Given the description of an element on the screen output the (x, y) to click on. 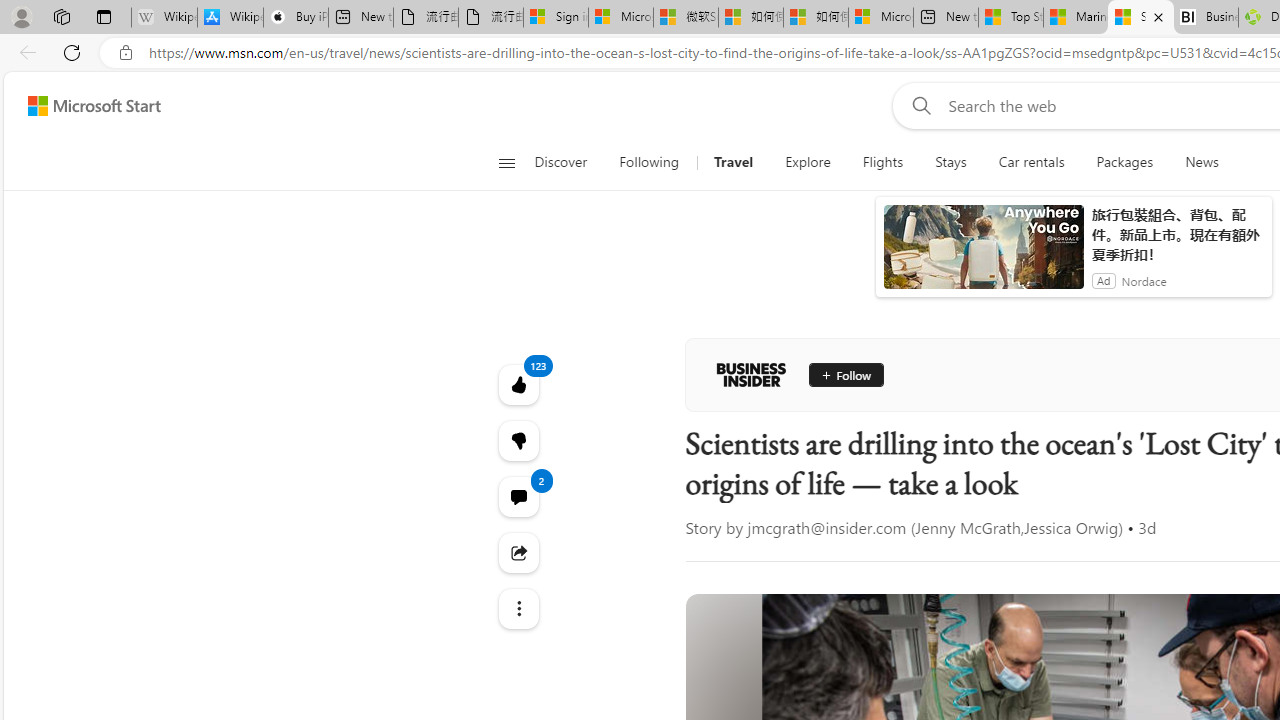
Wikipedia - Sleeping (164, 17)
Follow (845, 374)
123 (517, 440)
anim-content (983, 255)
Top Stories - MSN (1011, 17)
Business Insider (751, 374)
Buy iPad - Apple (295, 17)
Car rentals (1031, 162)
Car rentals (1031, 162)
Travel (732, 162)
